Given the description of an element on the screen output the (x, y) to click on. 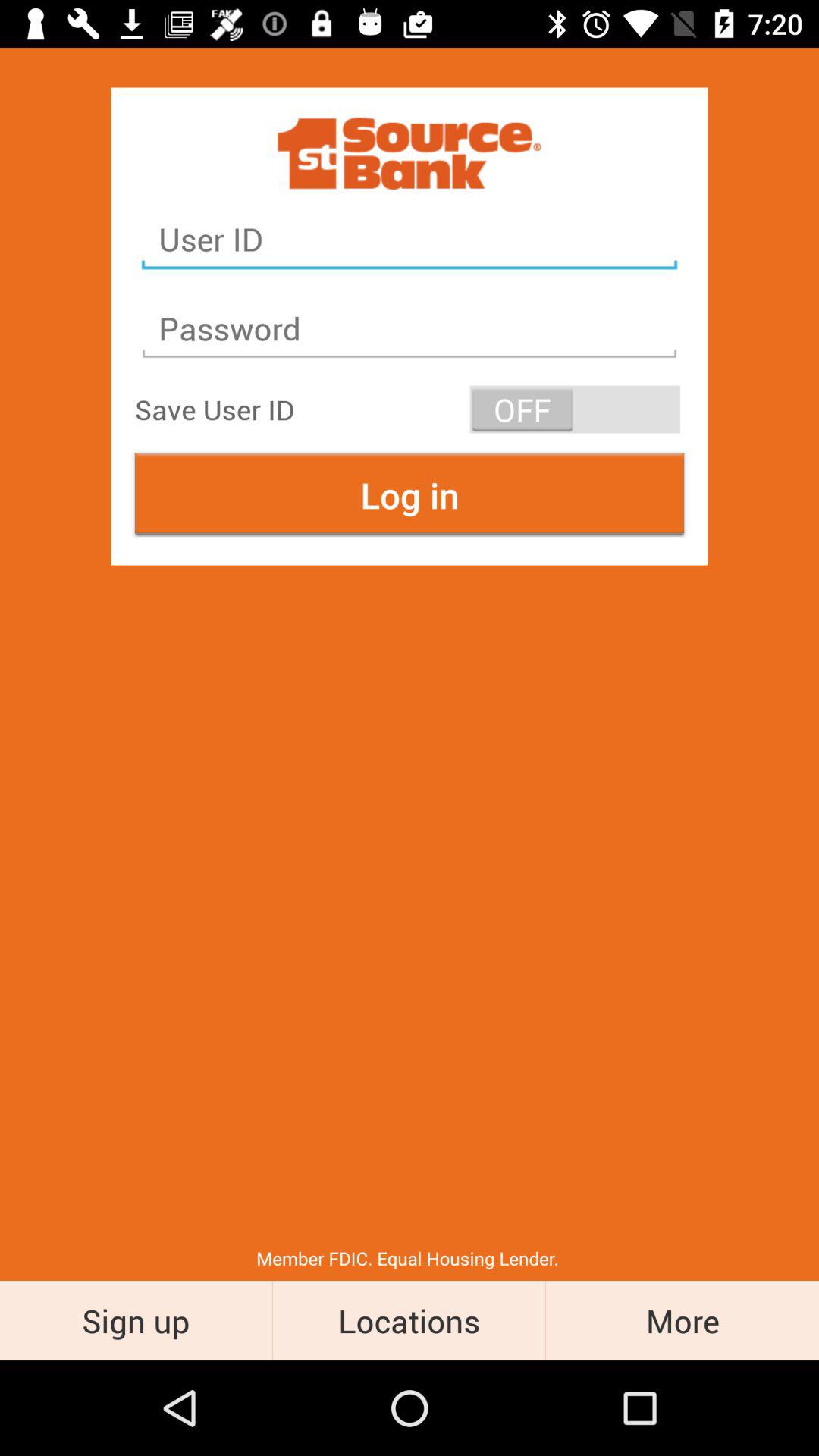
swipe to the more icon (682, 1320)
